Given the description of an element on the screen output the (x, y) to click on. 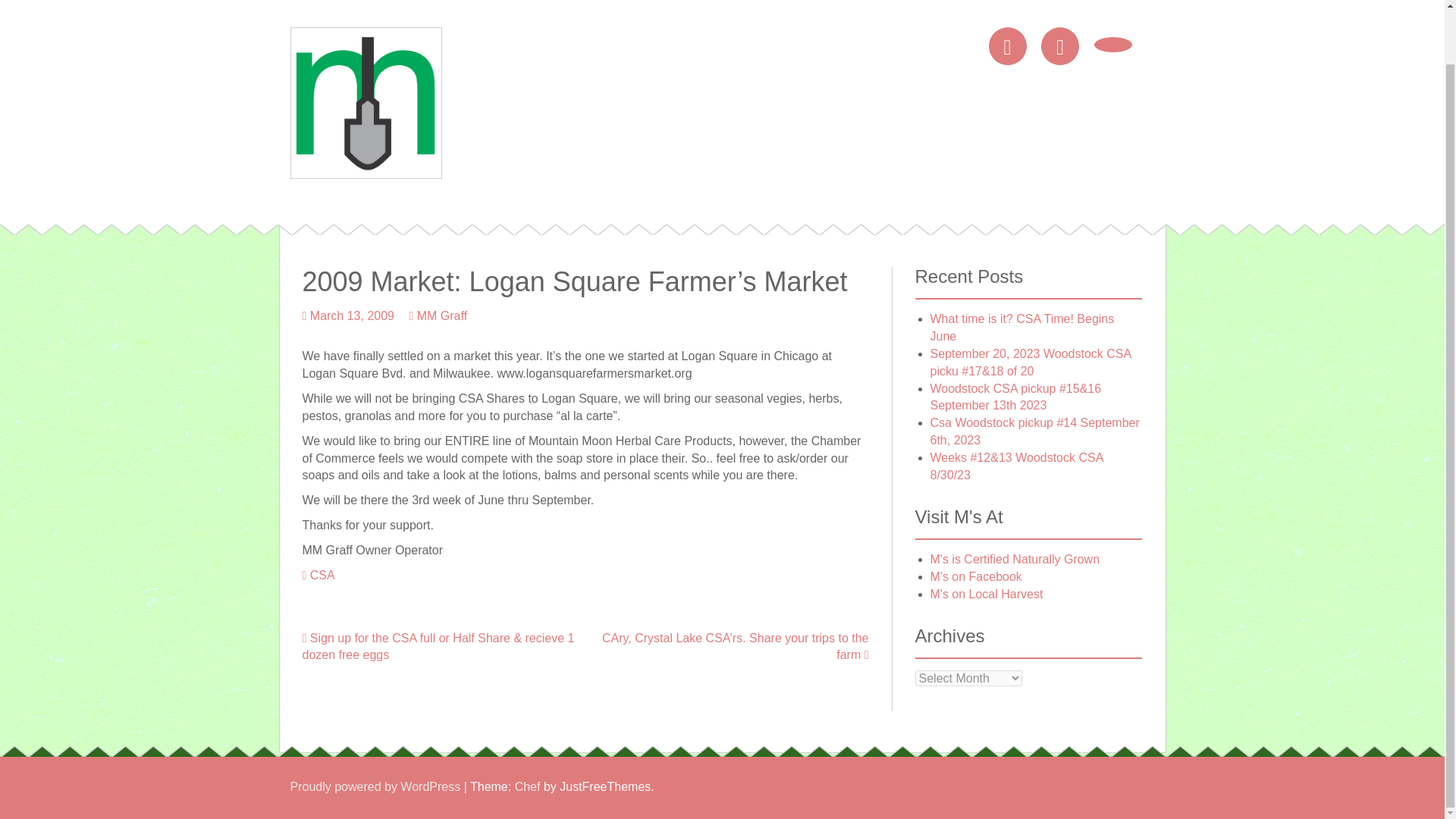
Proudly powered by WordPress (374, 786)
M's on Facebook (976, 576)
M's Organic Farm (365, 101)
What time is it? CSA Time! Begins June (1021, 327)
CSA (322, 574)
March 13, 2009 (352, 315)
Chef (527, 786)
MM Graff (441, 315)
M's on Local Harvest (986, 594)
M's is Certified Naturally Grown (1014, 558)
